Given the description of an element on the screen output the (x, y) to click on. 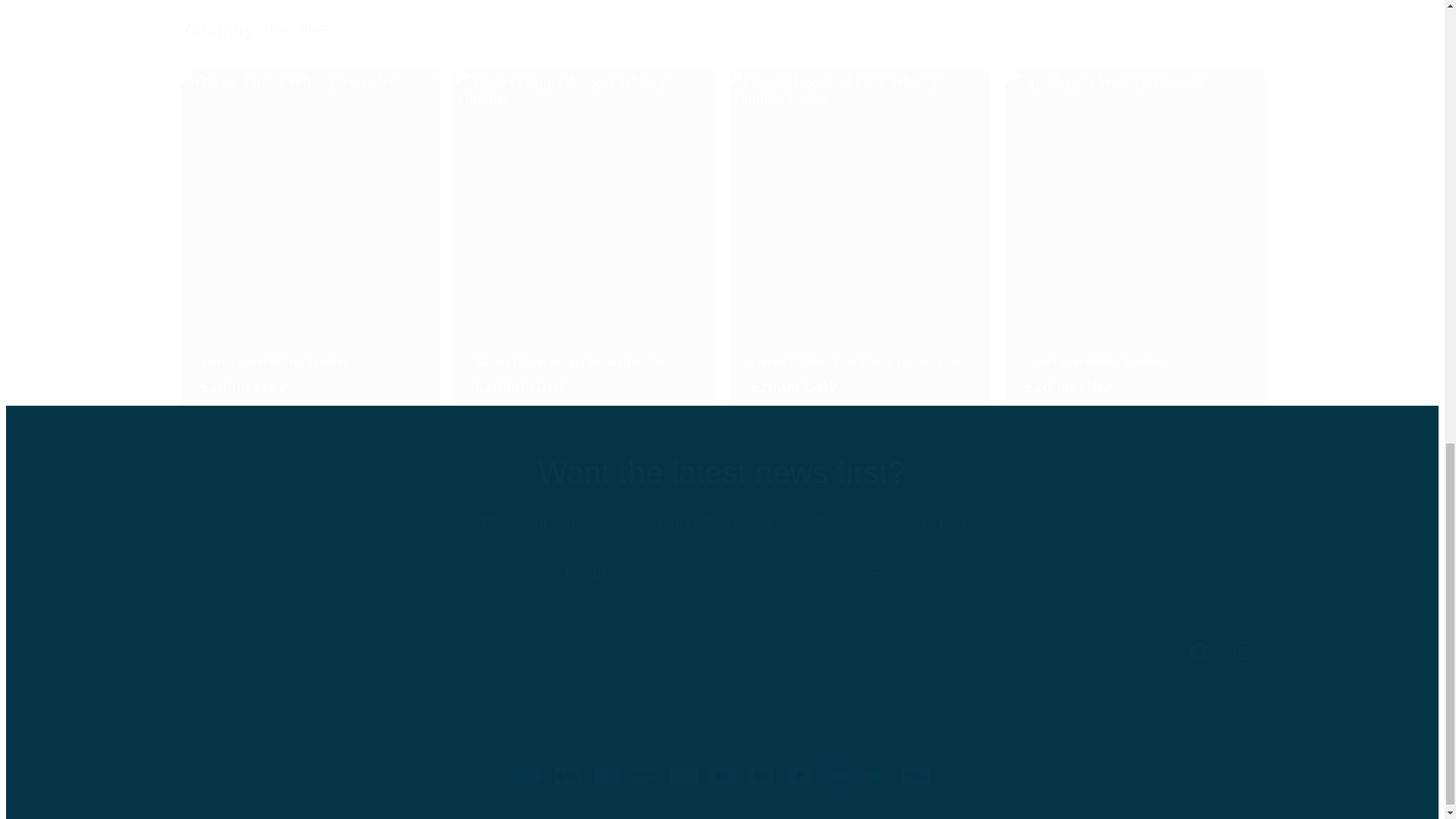
Email (721, 572)
Want the latest news first? (722, 649)
